Given the description of an element on the screen output the (x, y) to click on. 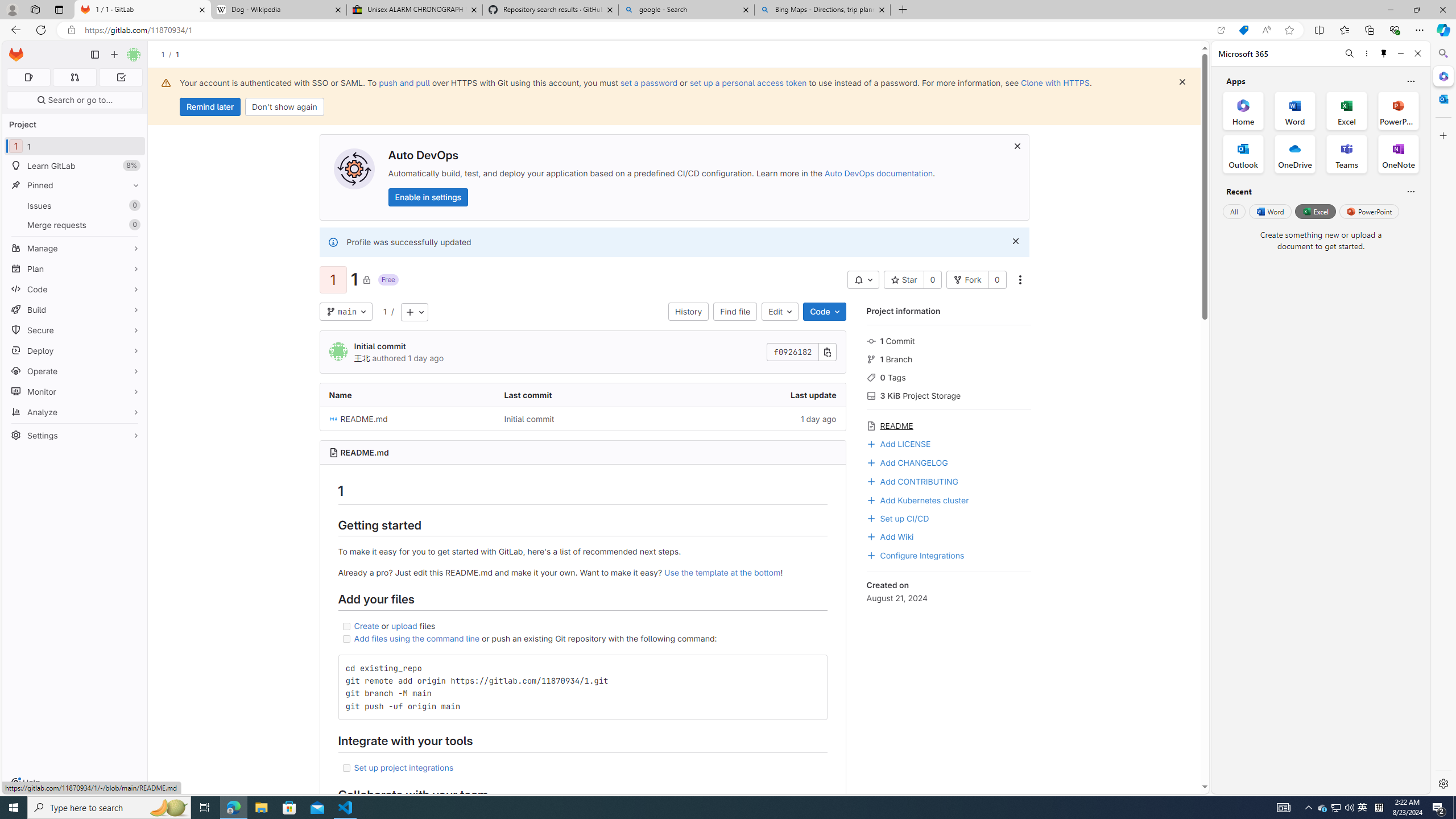
Learn GitLab 8% (74, 165)
Add Wiki (948, 535)
0 (996, 280)
